Given the description of an element on the screen output the (x, y) to click on. 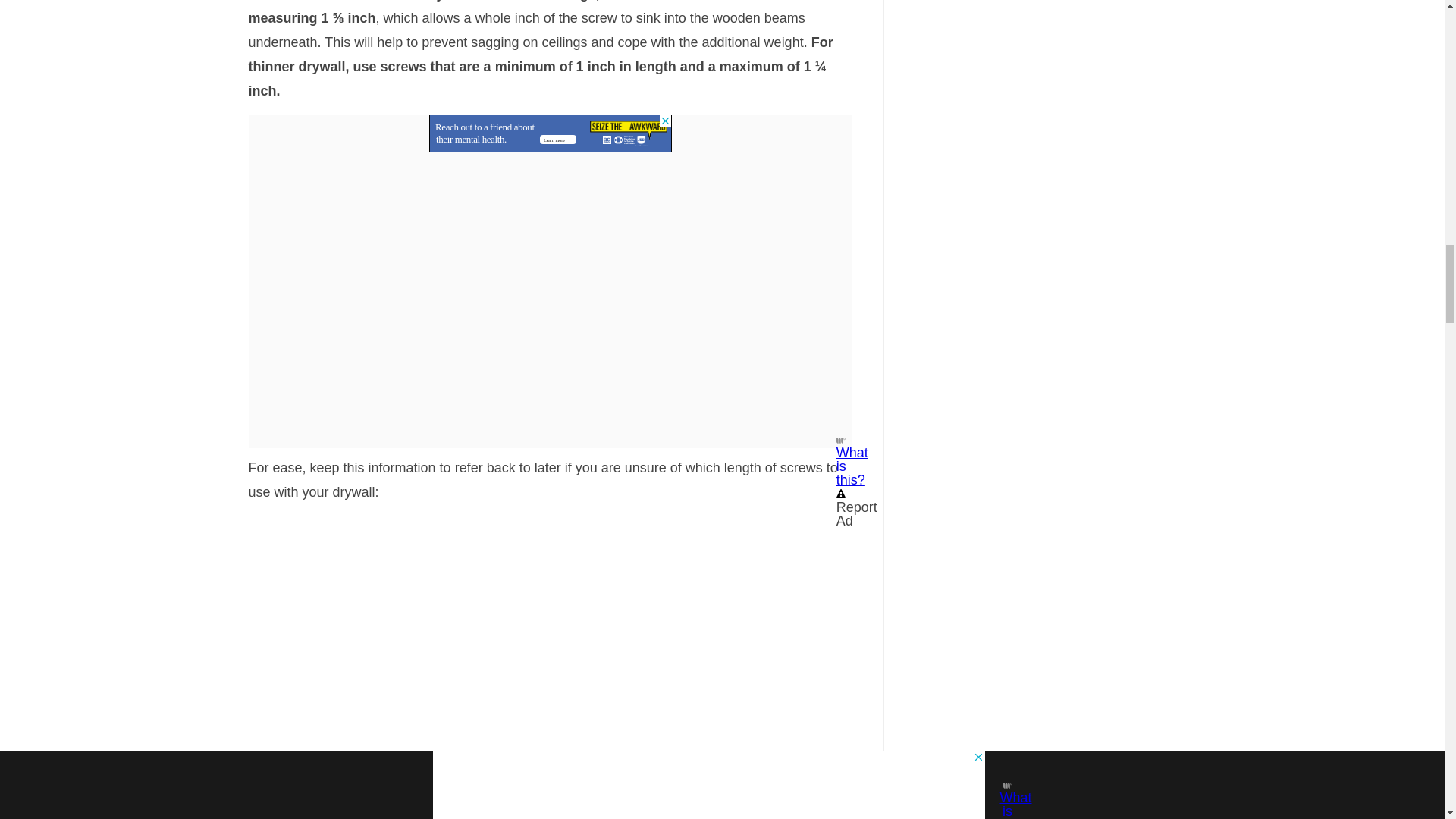
3rd party ad content (550, 133)
